Given the description of an element on the screen output the (x, y) to click on. 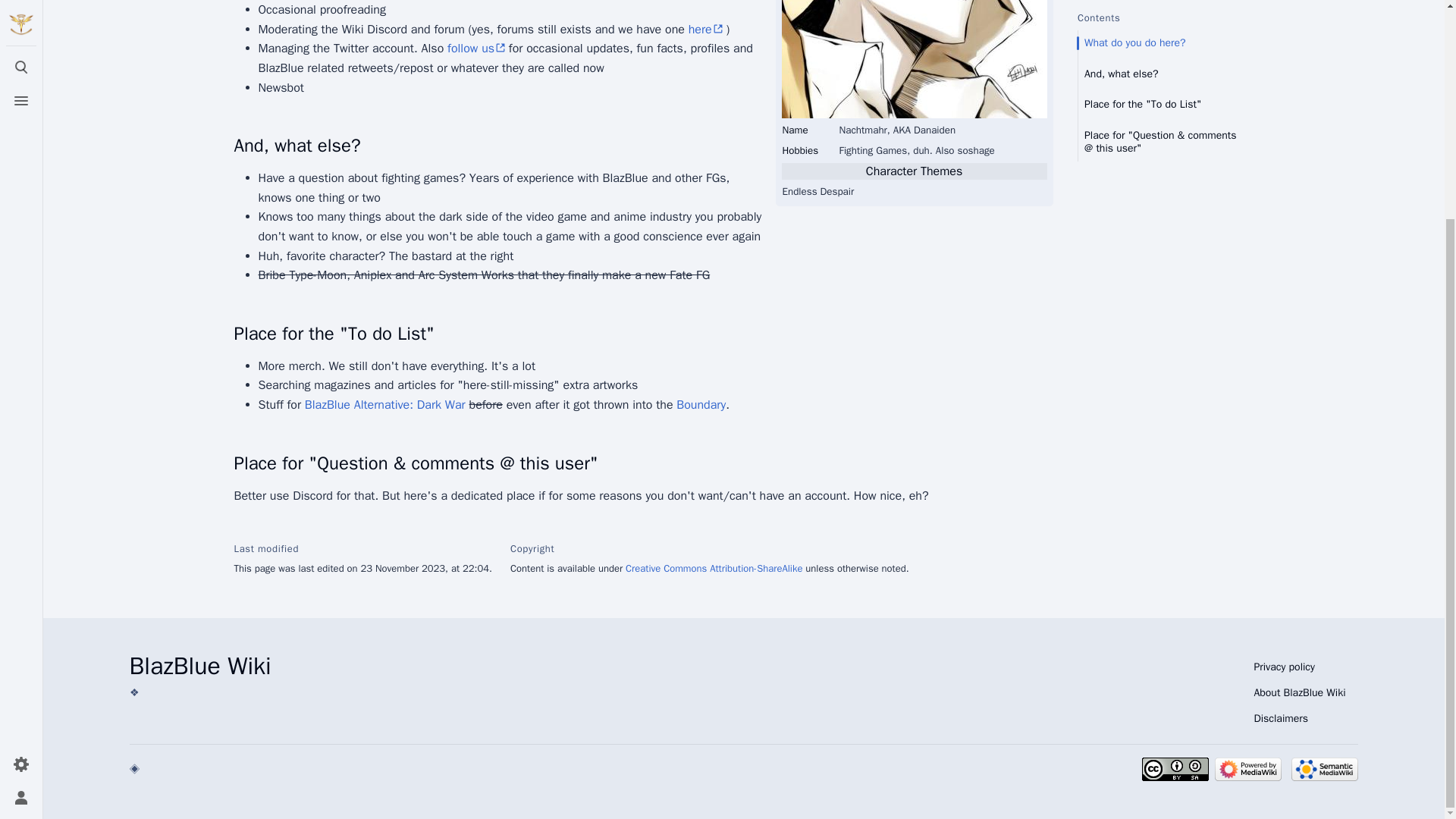
Toggle personal menu (20, 508)
Preferences (20, 475)
